Given the description of an element on the screen output the (x, y) to click on. 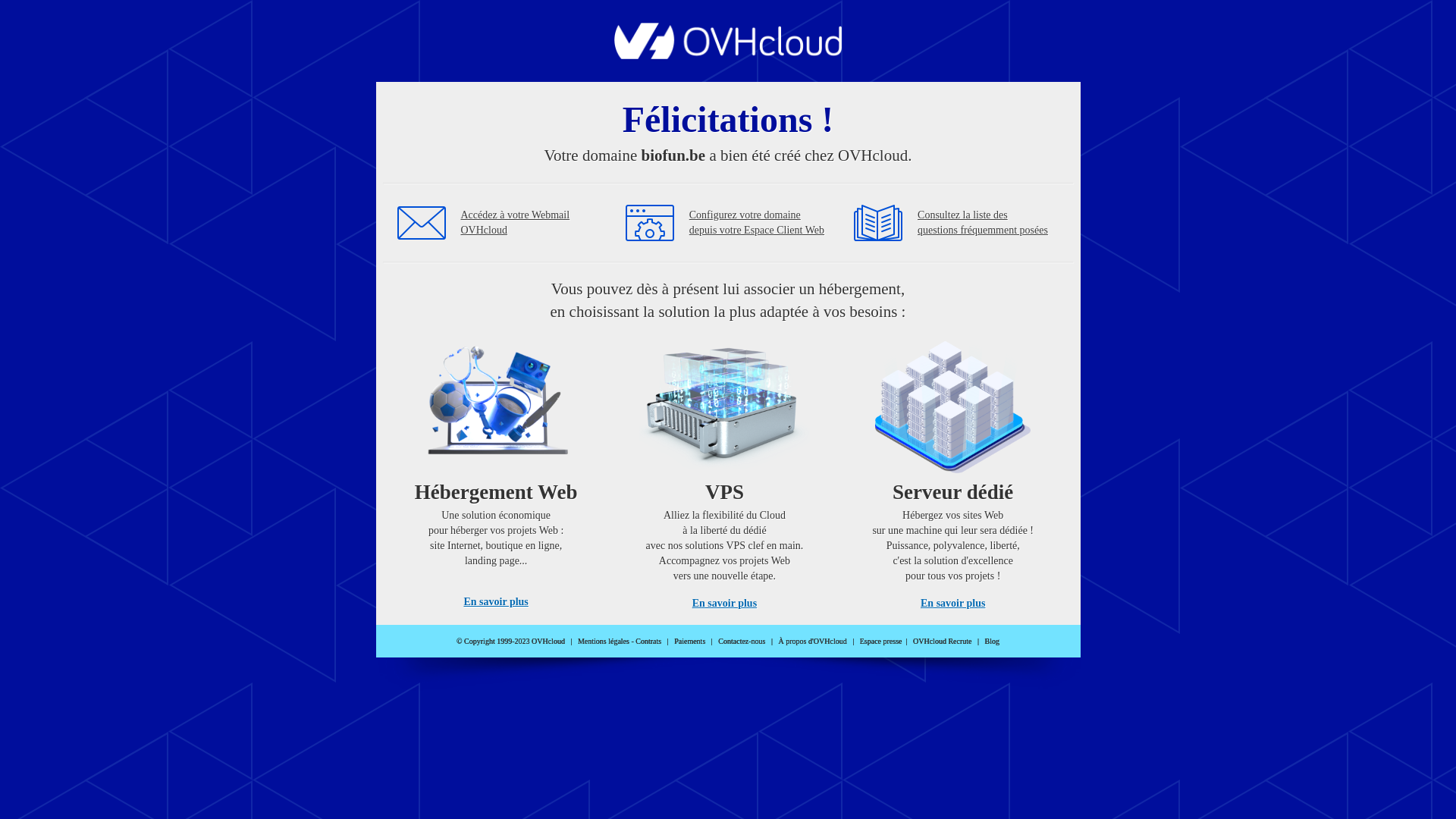
Paiements Element type: text (689, 641)
OVHcloud Element type: hover (727, 54)
Blog Element type: text (992, 641)
OVHcloud Recrute Element type: text (942, 641)
En savoir plus Element type: text (724, 602)
En savoir plus Element type: text (495, 601)
Espace presse Element type: text (880, 641)
En savoir plus Element type: text (952, 602)
Contactez-nous Element type: text (741, 641)
VPS Element type: hover (724, 469)
Configurez votre domaine
depuis votre Espace Client Web Element type: text (756, 222)
